Given the description of an element on the screen output the (x, y) to click on. 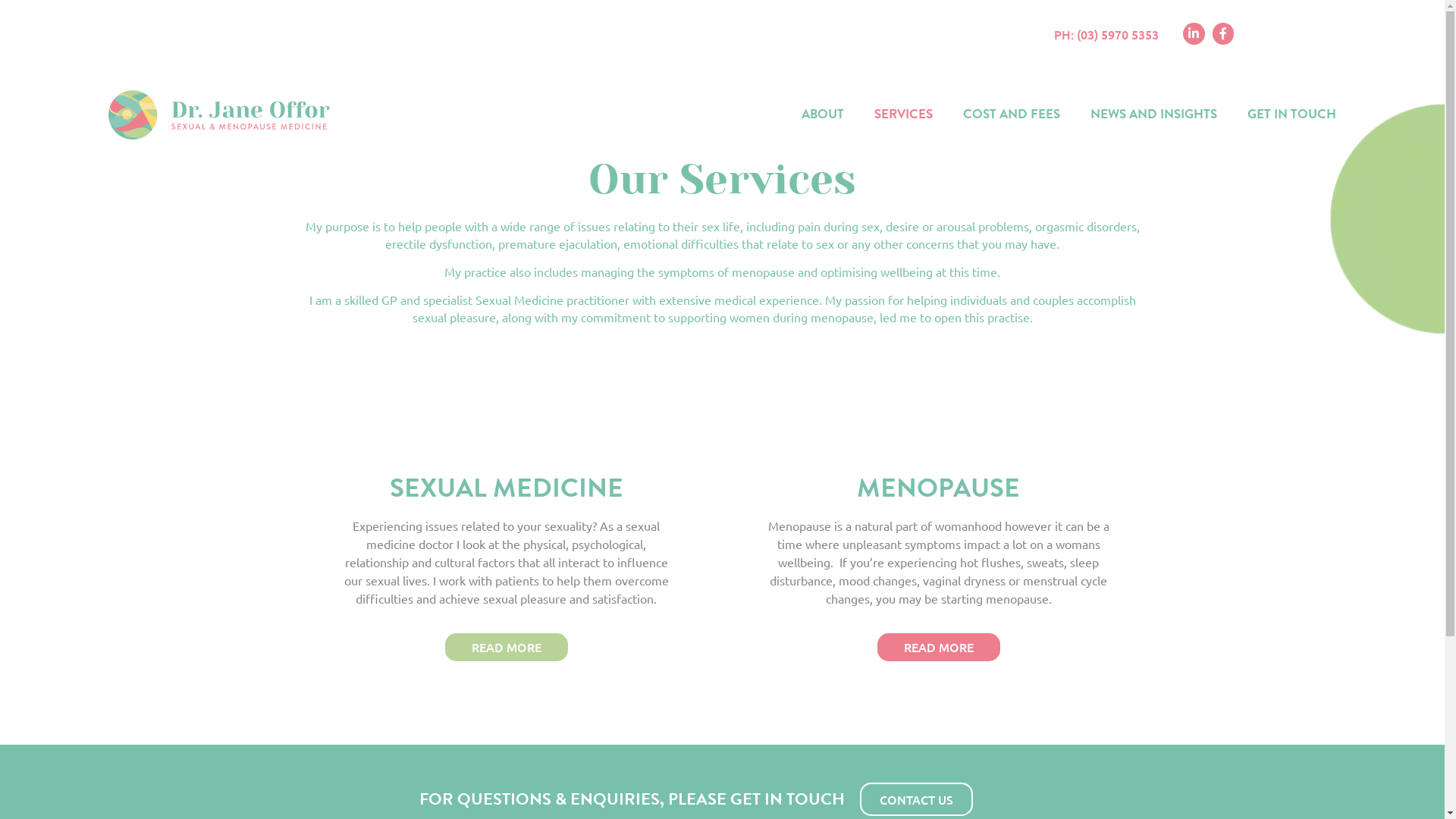
PH: (03) 5970 5353 Element type: text (1106, 33)
COST AND FEES Element type: text (1011, 114)
READ MORE Element type: text (937, 647)
READ MORE Element type: text (505, 647)
SERVICES Element type: text (903, 114)
ABOUT Element type: text (822, 114)
GET IN TOUCH Element type: text (1291, 114)
CONTACT US Element type: text (915, 798)
NEWS AND INSIGHTS Element type: text (1153, 114)
